Given the description of an element on the screen output the (x, y) to click on. 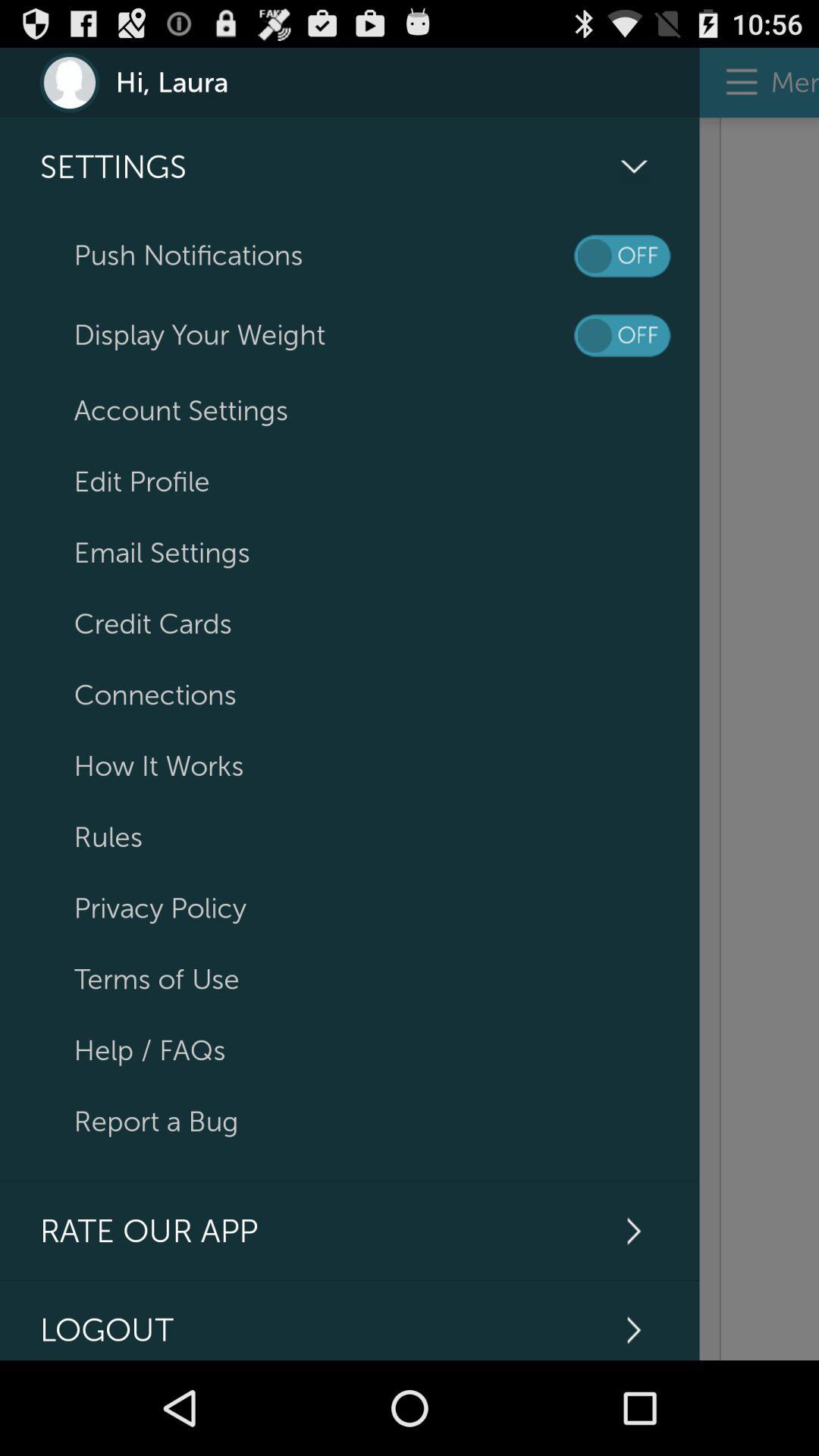
switch notifications option (622, 255)
